Given the description of an element on the screen output the (x, y) to click on. 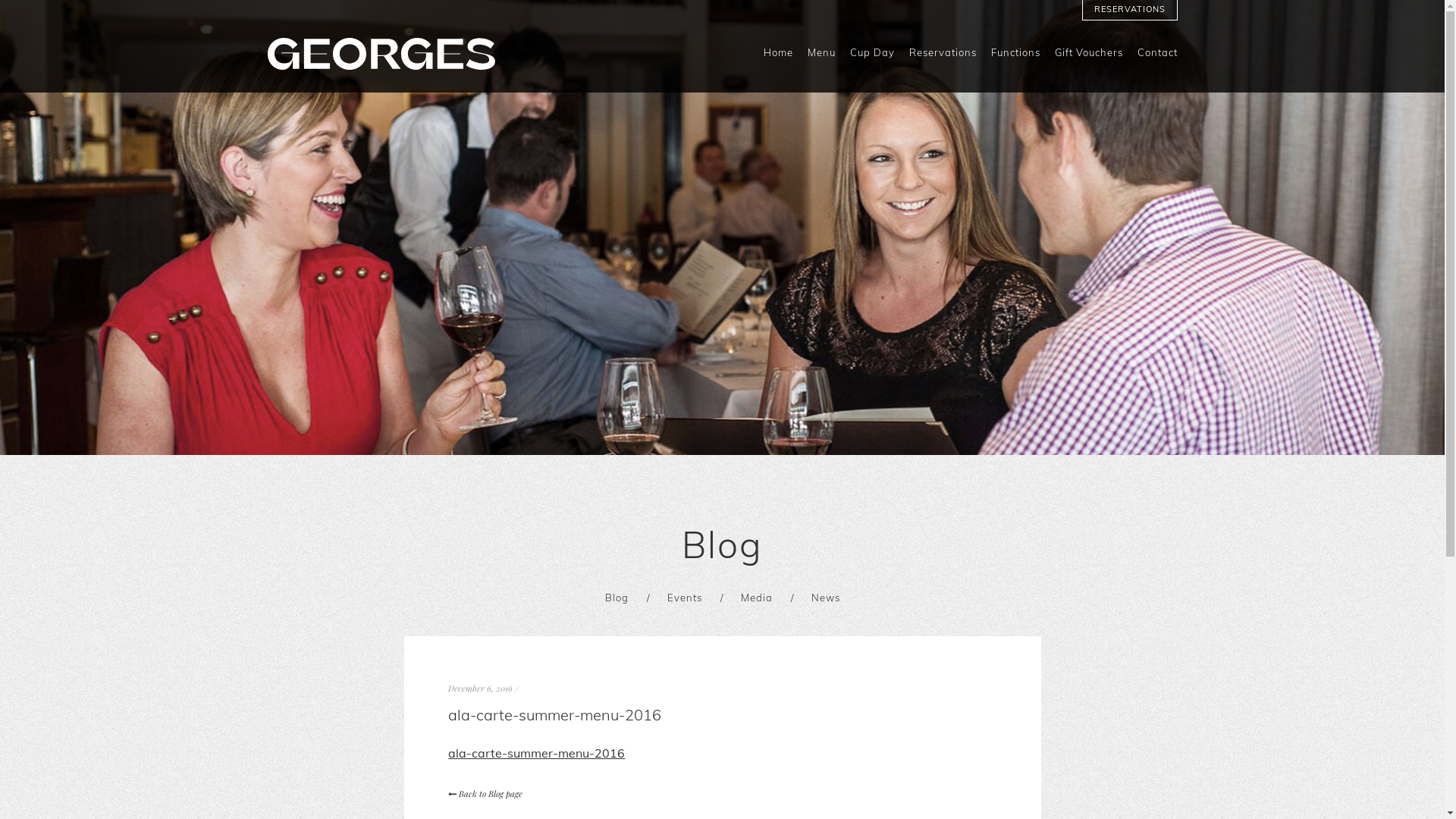
News Element type: text (825, 597)
Blog Element type: text (616, 597)
Functions Element type: text (1014, 58)
RESERVATIONS Element type: text (1129, 9)
Home Element type: text (777, 58)
Reservations Element type: text (941, 58)
Menu Element type: text (820, 58)
Back to Blog page Element type: text (485, 793)
Contact Element type: text (1157, 58)
Cup Day Element type: text (871, 58)
ala-carte-summer-menu-2016 Element type: text (536, 752)
Events Element type: text (684, 597)
Media Element type: text (755, 597)
Gift Vouchers Element type: text (1088, 58)
